Given the description of an element on the screen output the (x, y) to click on. 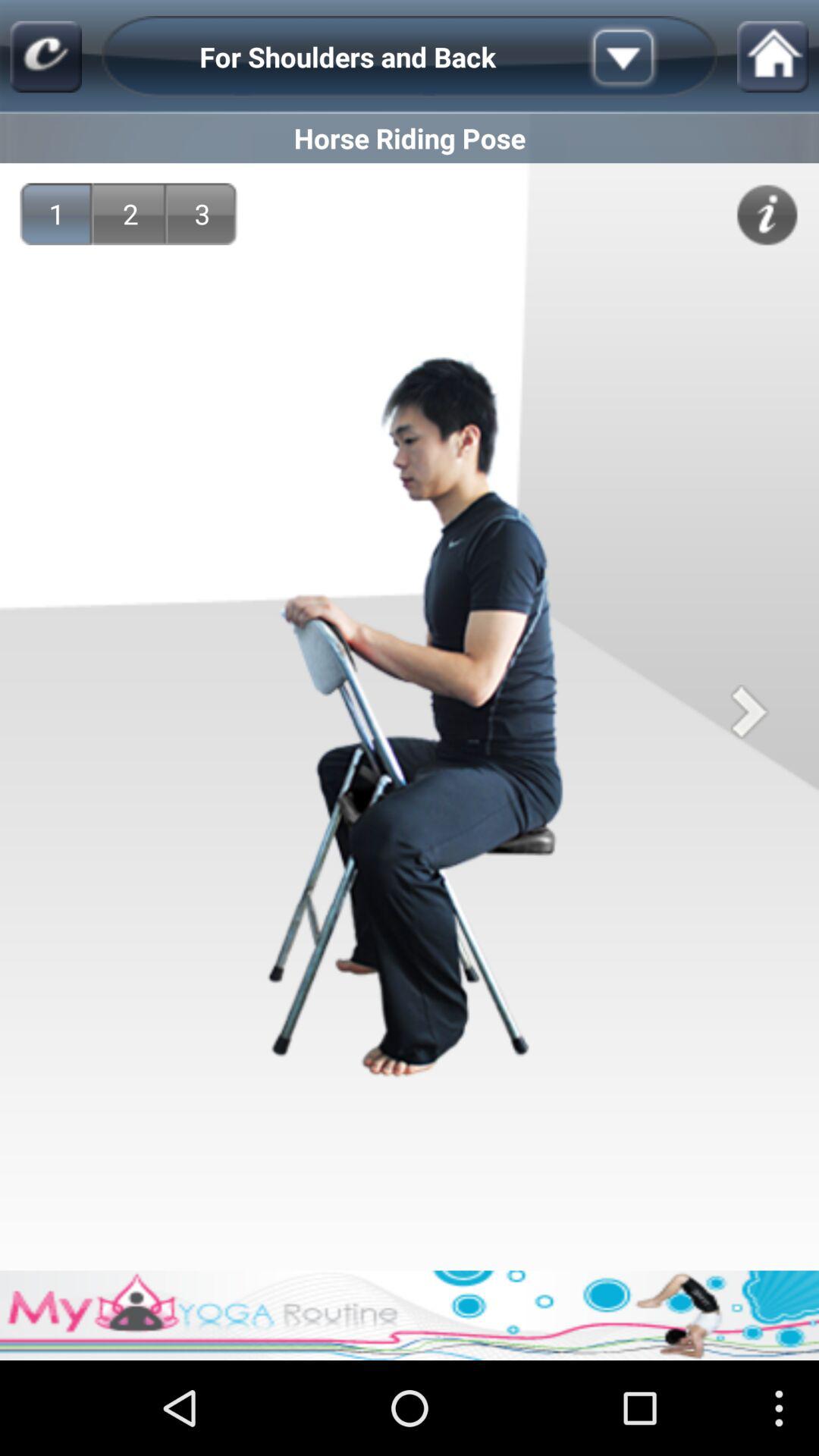
home page (45, 56)
